Given the description of an element on the screen output the (x, y) to click on. 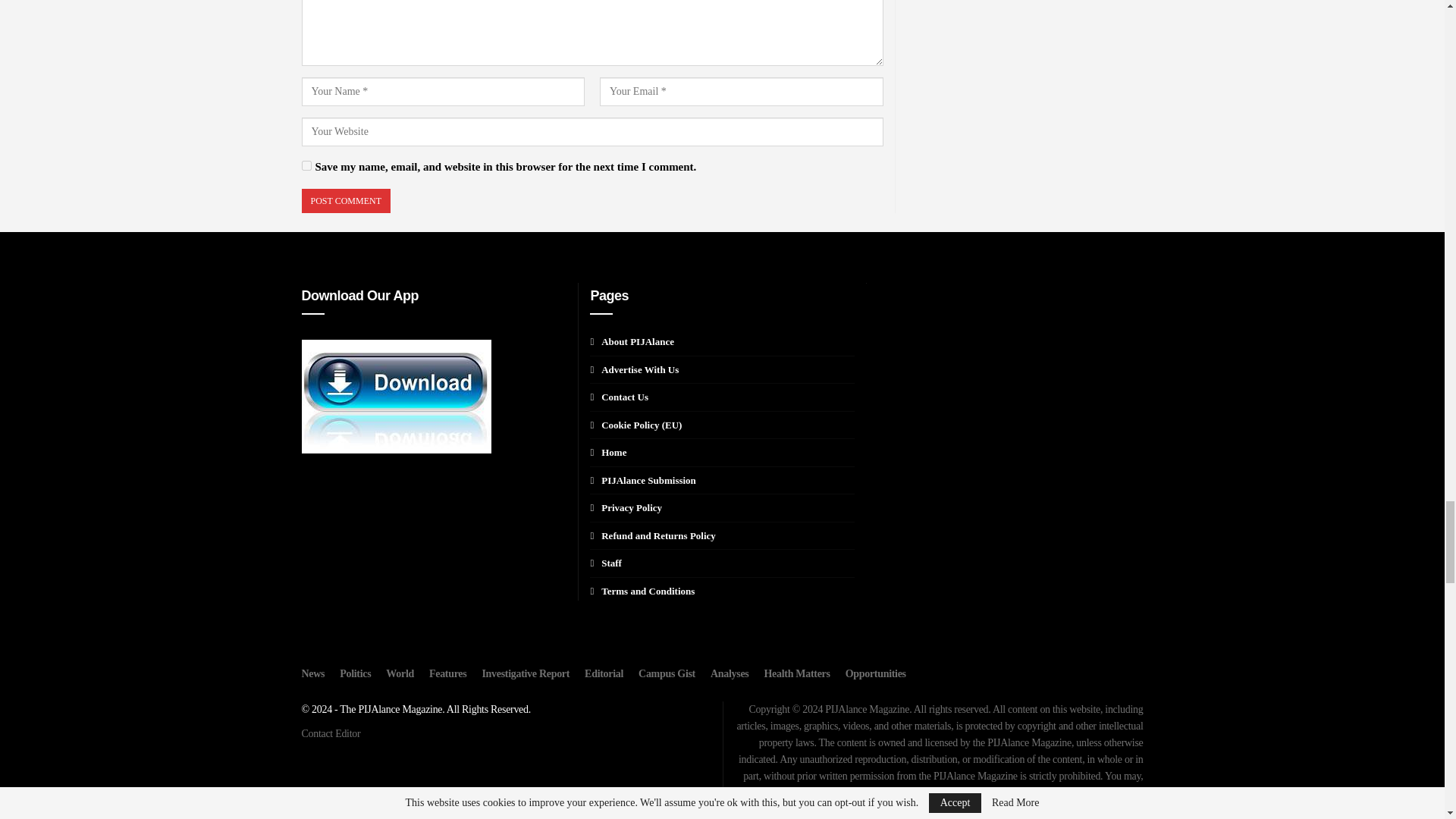
Post Comment (345, 201)
yes (306, 165)
